Given the description of an element on the screen output the (x, y) to click on. 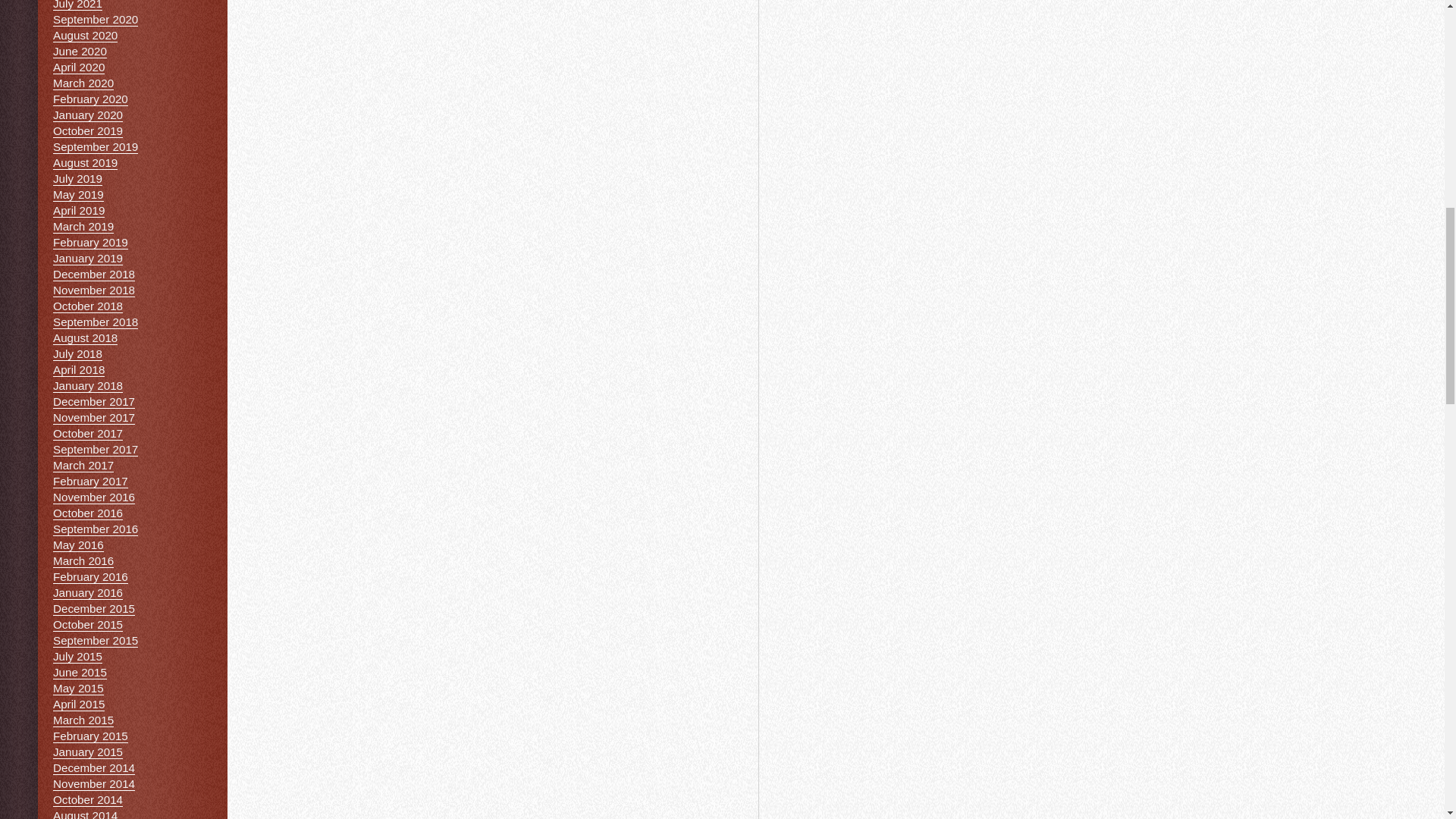
February 2020 (90, 99)
July 2019 (76, 178)
August 2019 (84, 162)
October 2019 (87, 131)
September 2019 (95, 146)
March 2020 (82, 83)
July 2021 (76, 5)
June 2020 (79, 51)
January 2020 (87, 115)
September 2020 (95, 19)
April 2020 (78, 67)
August 2020 (84, 35)
